Given the description of an element on the screen output the (x, y) to click on. 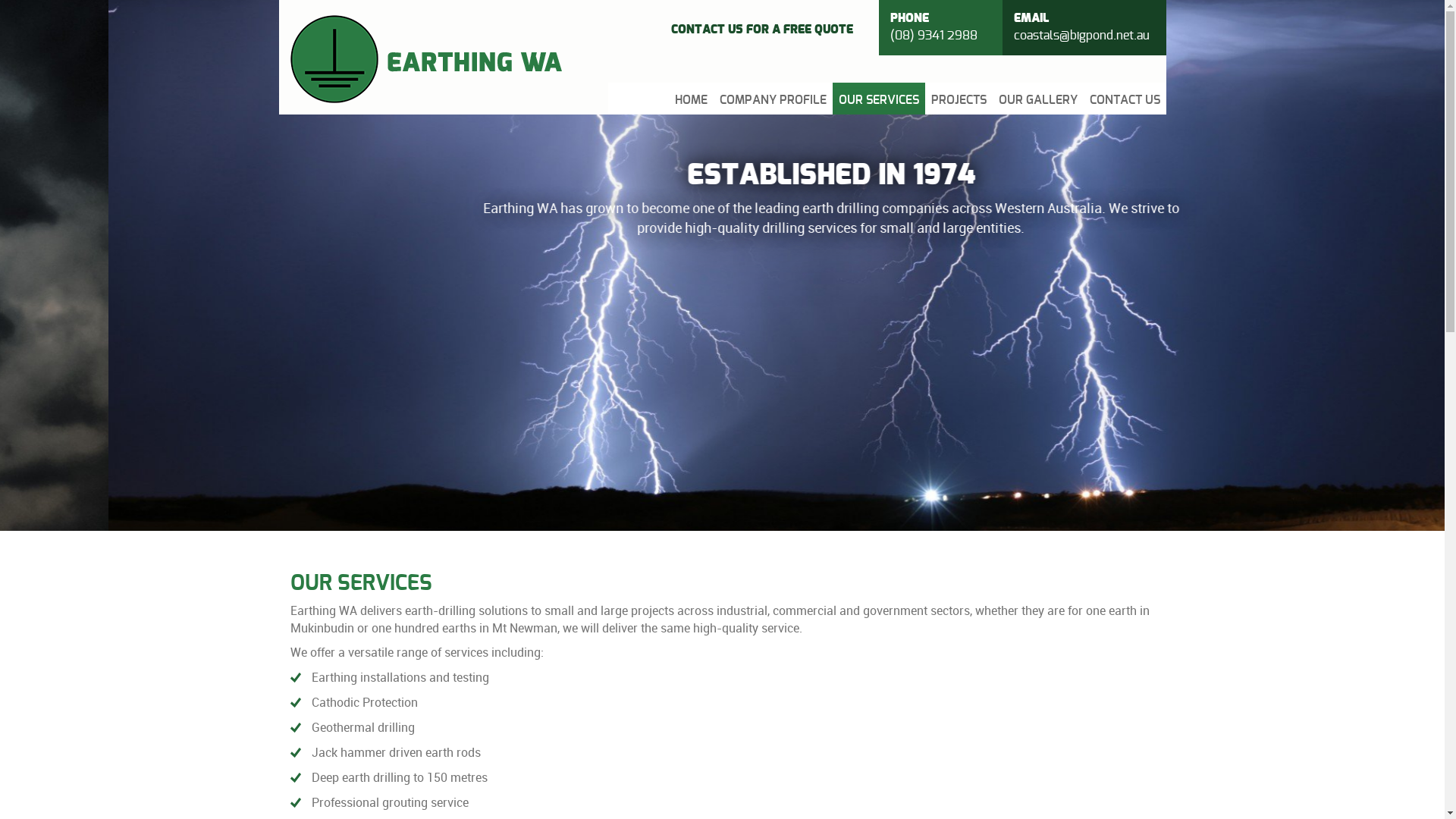
OUR GALLERY Element type: text (1036, 97)
CONTACT US FOR A FREE QUOTE Element type: text (761, 29)
OUR SERVICES Element type: text (878, 97)
coastals@bigpond.net.au Element type: text (1083, 49)
COMPANY PROFILE Element type: text (771, 97)
Earthing WA Element type: hover (425, 58)
PROJECTS Element type: text (958, 97)
CONTACT US Element type: text (1123, 97)
(08) 9341 2988 Element type: text (940, 49)
HOME Element type: text (690, 97)
